Given the description of an element on the screen output the (x, y) to click on. 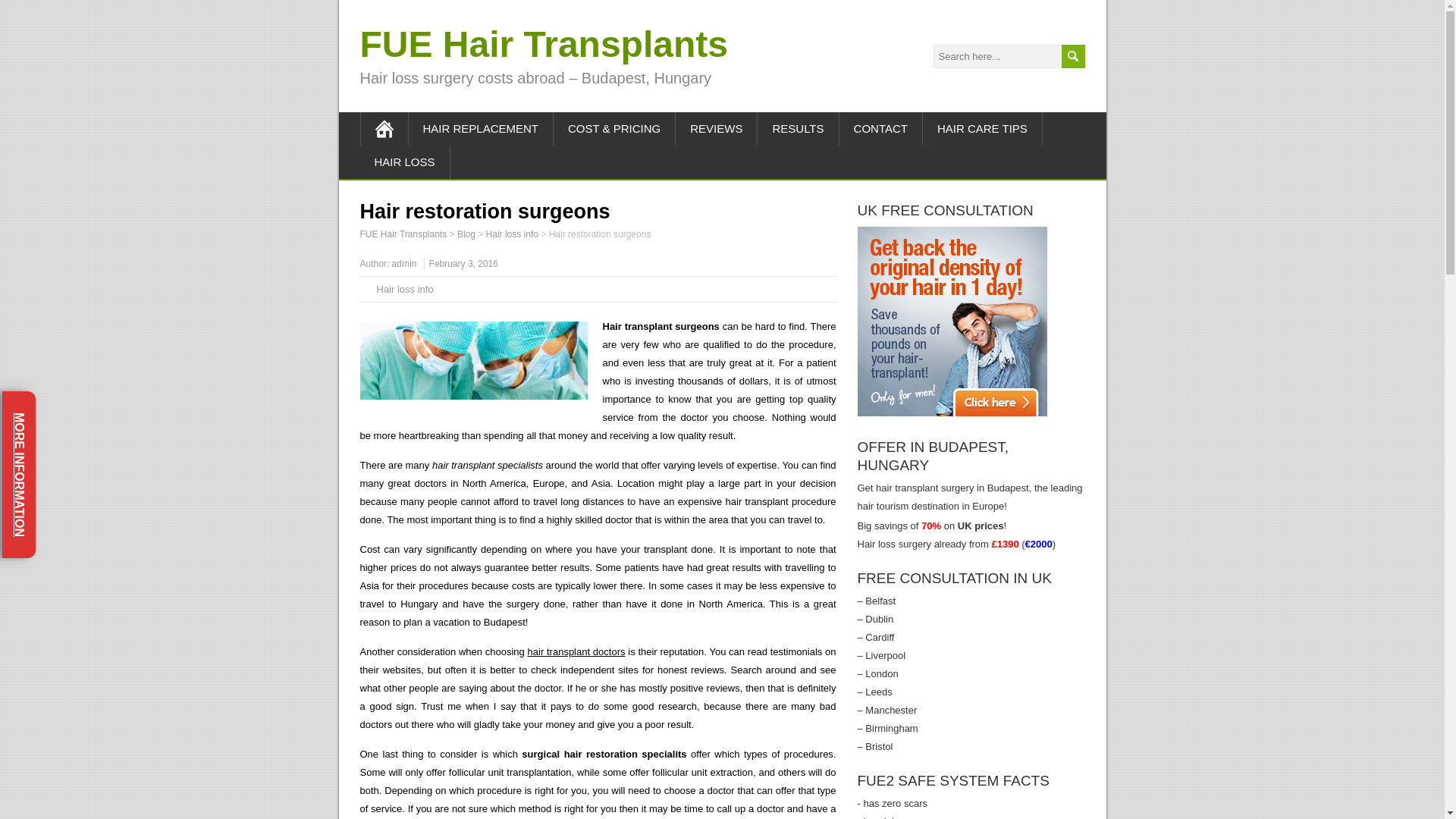
HAIR LOSS (404, 162)
RESULTS (797, 128)
FUE Hair Transplants (542, 44)
CONTACT (881, 128)
FUE Hair Transplants (402, 234)
Hair loss info (512, 234)
Posts by admin (403, 263)
Go to Blog. (466, 234)
HAIR CARE TIPS (982, 128)
REVIEWS (716, 128)
